Given the description of an element on the screen output the (x, y) to click on. 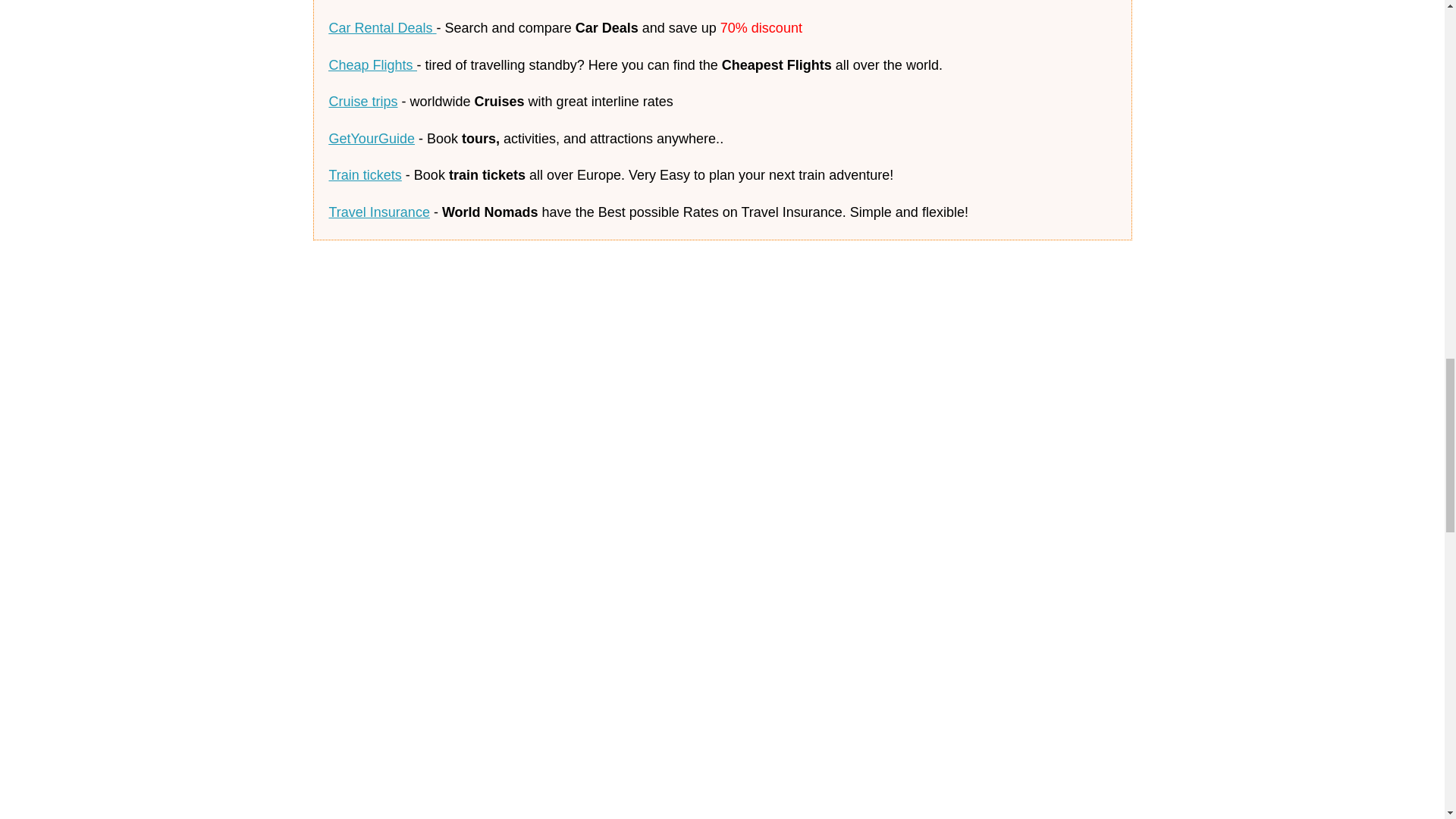
Car Rental Deals (382, 28)
Cheap Flights (372, 64)
GetYourGuide (371, 138)
Cruise trips (363, 101)
Travel Insurance (379, 212)
Train tickets (365, 174)
